Given the description of an element on the screen output the (x, y) to click on. 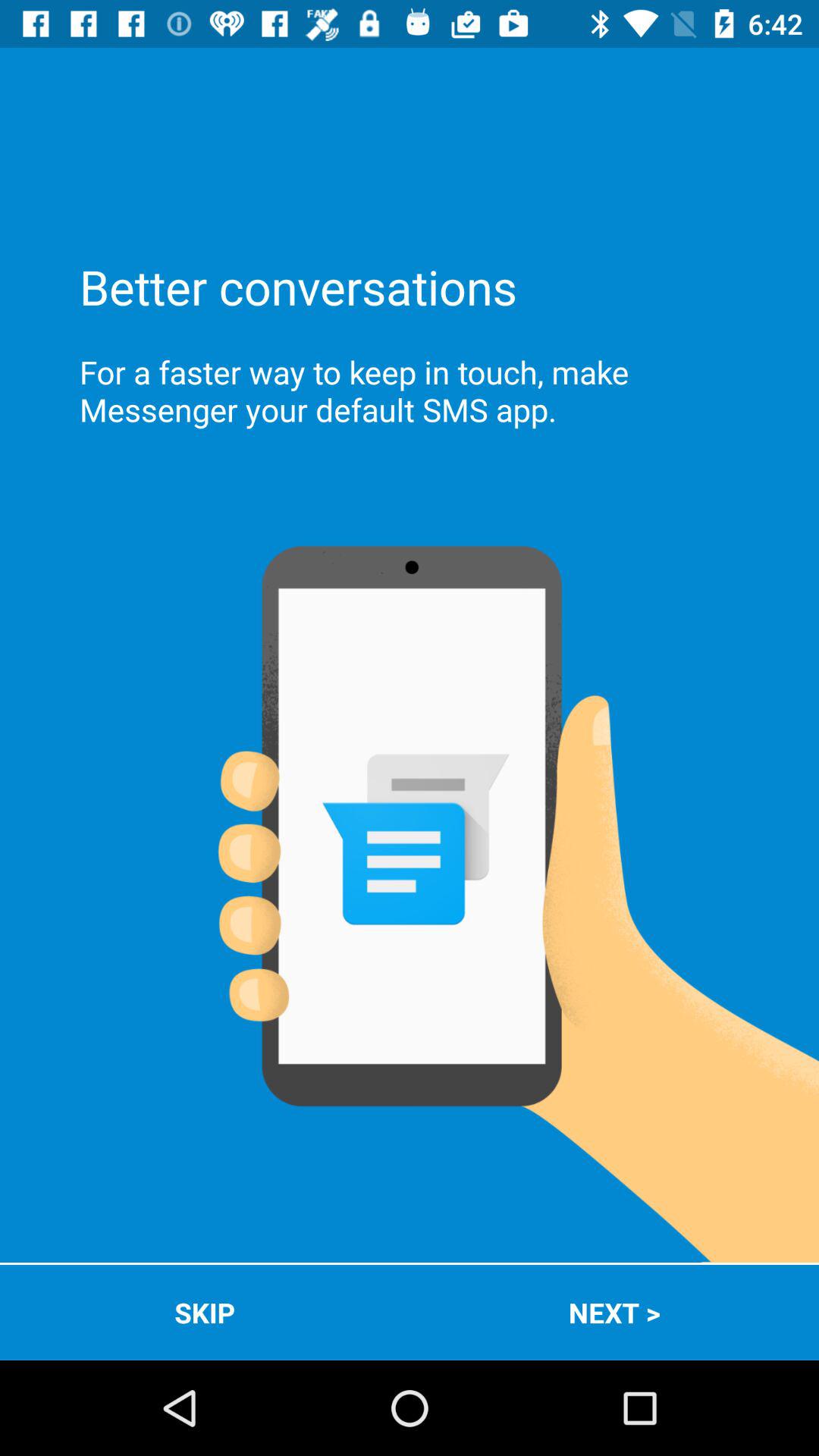
choose the app at the bottom right corner (614, 1312)
